Given the description of an element on the screen output the (x, y) to click on. 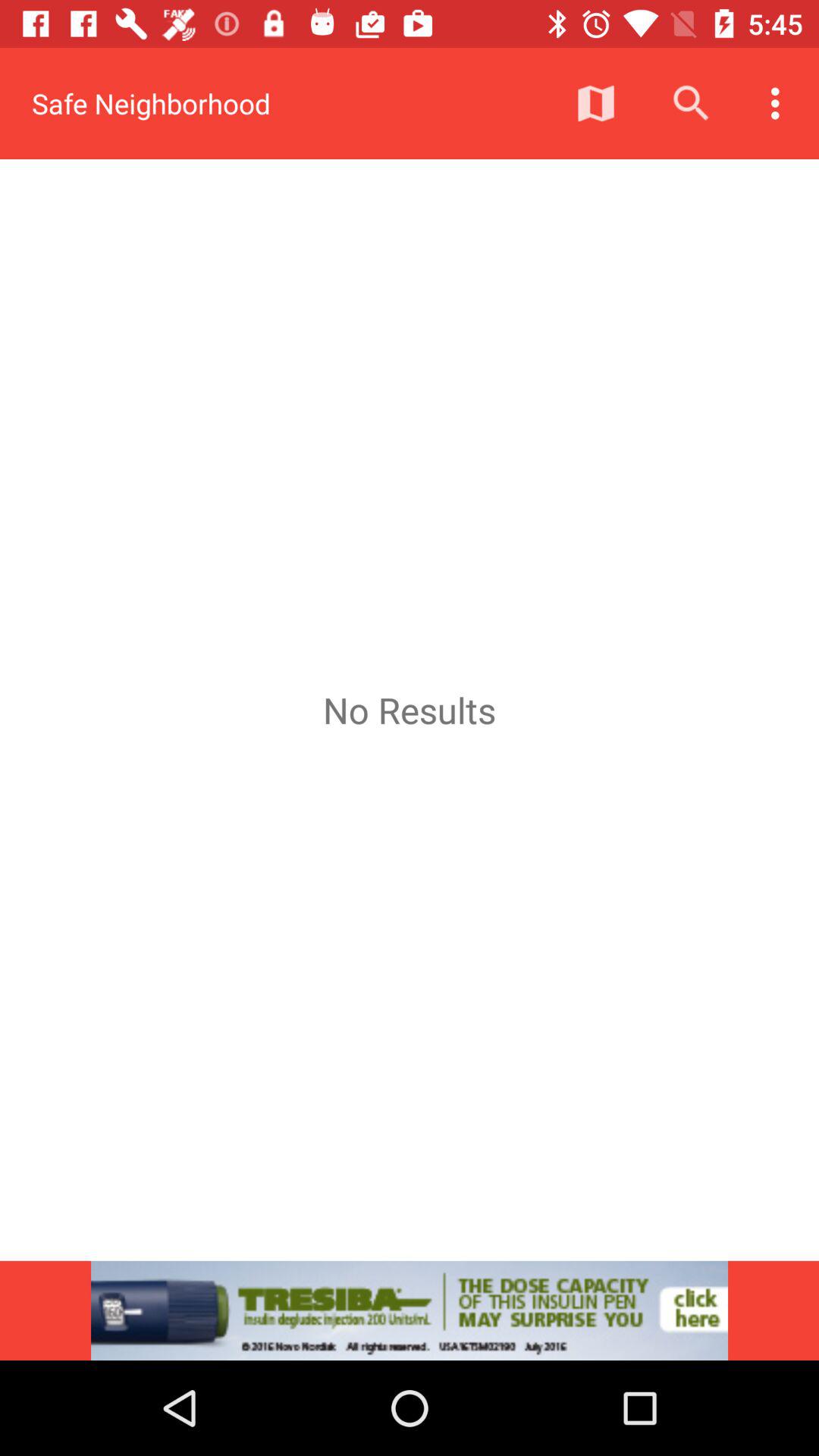
launch the item below the no results (409, 1310)
